Given the description of an element on the screen output the (x, y) to click on. 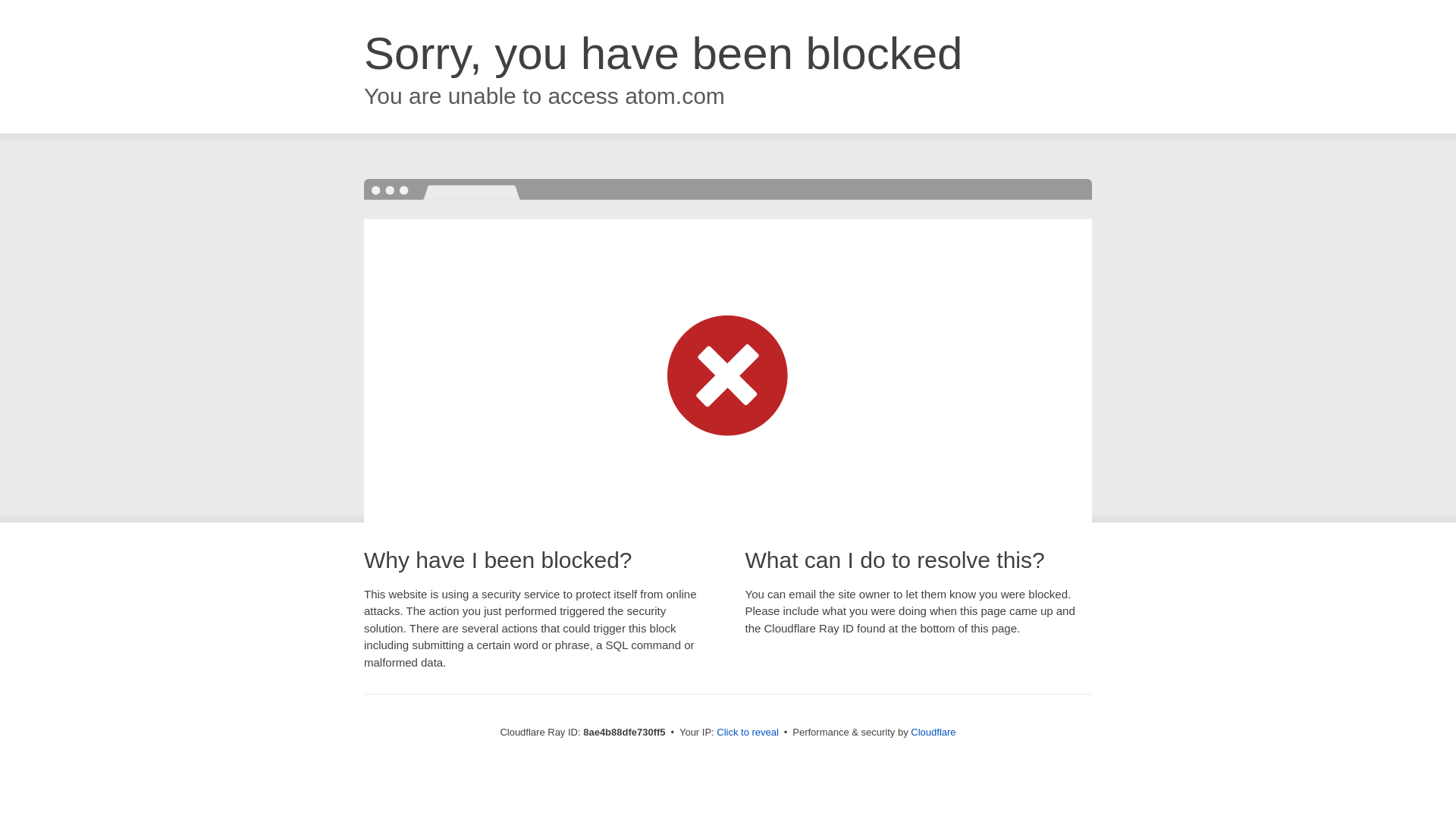
Cloudflare (933, 731)
Click to reveal (747, 732)
